Given the description of an element on the screen output the (x, y) to click on. 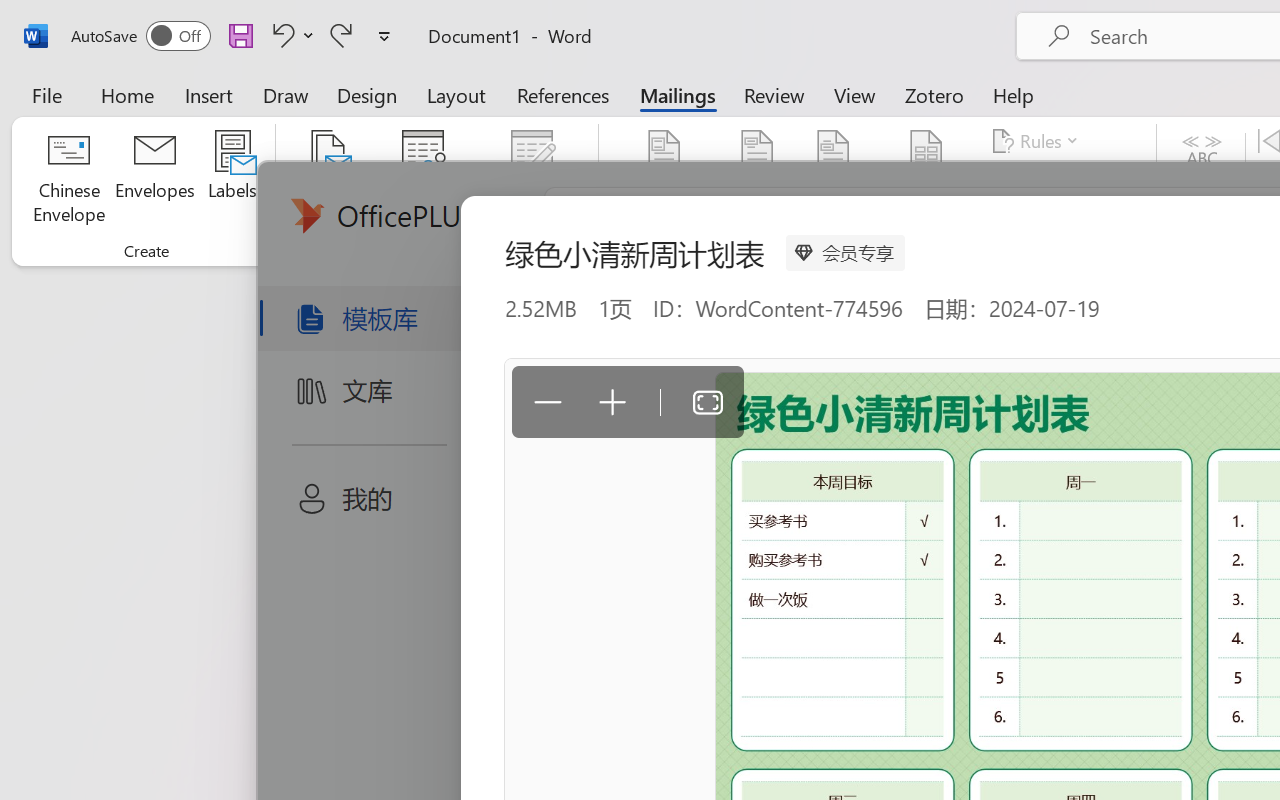
Preview Results (1202, 179)
Greeting Line... (833, 179)
Rules (1037, 141)
Match Fields... (1057, 179)
Update Labels (1064, 218)
Envelopes... (155, 179)
Redo Apply Quick Style (341, 35)
